Given the description of an element on the screen output the (x, y) to click on. 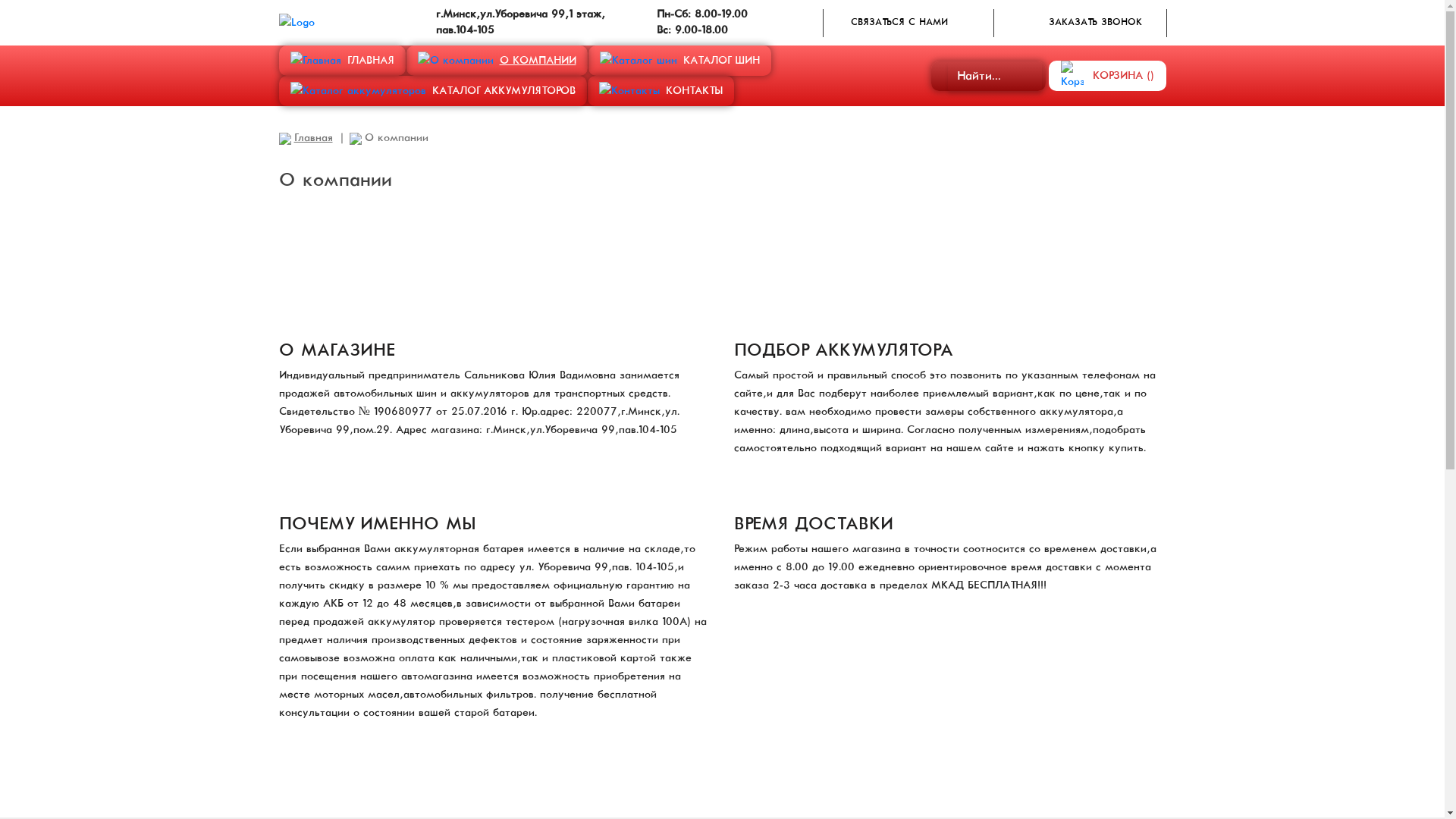
Logo Element type: hover (296, 22)
